Given the description of an element on the screen output the (x, y) to click on. 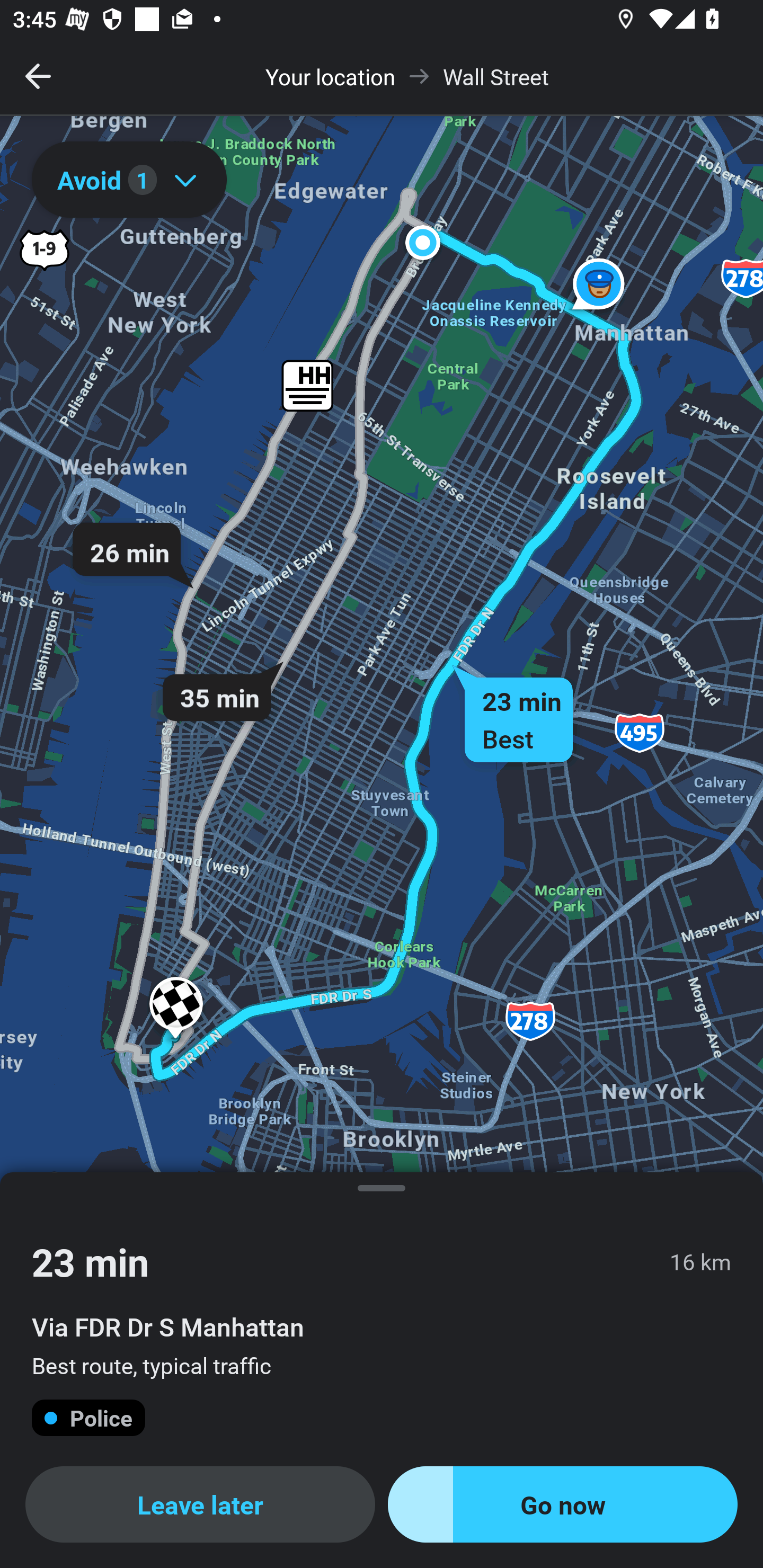
Leave later (200, 1504)
Go now (562, 1504)
